Given the description of an element on the screen output the (x, y) to click on. 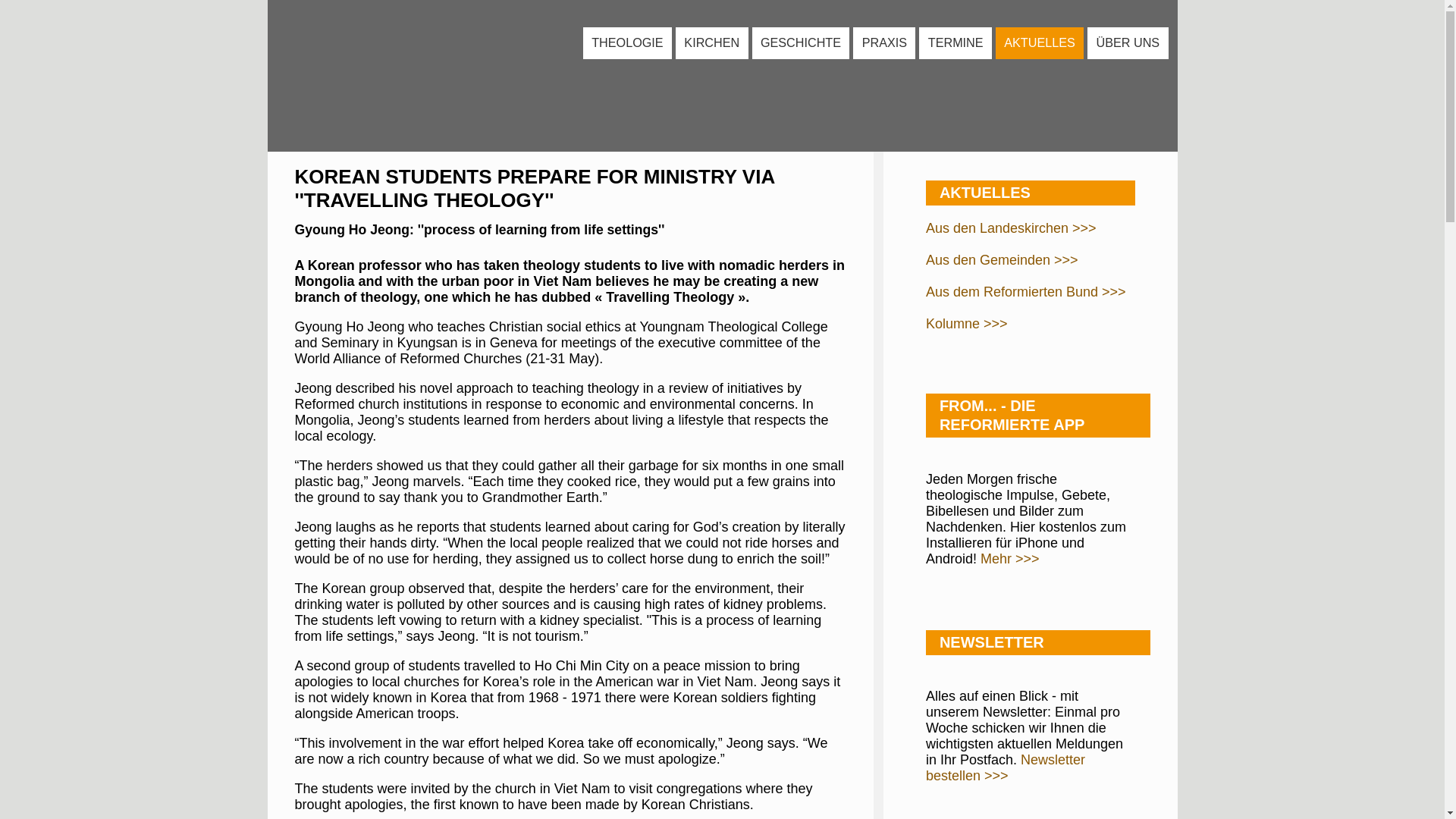
GESCHICHTE (800, 42)
THEOLOGIE (626, 42)
KIRCHEN (711, 42)
PRAXIS (884, 42)
